Given the description of an element on the screen output the (x, y) to click on. 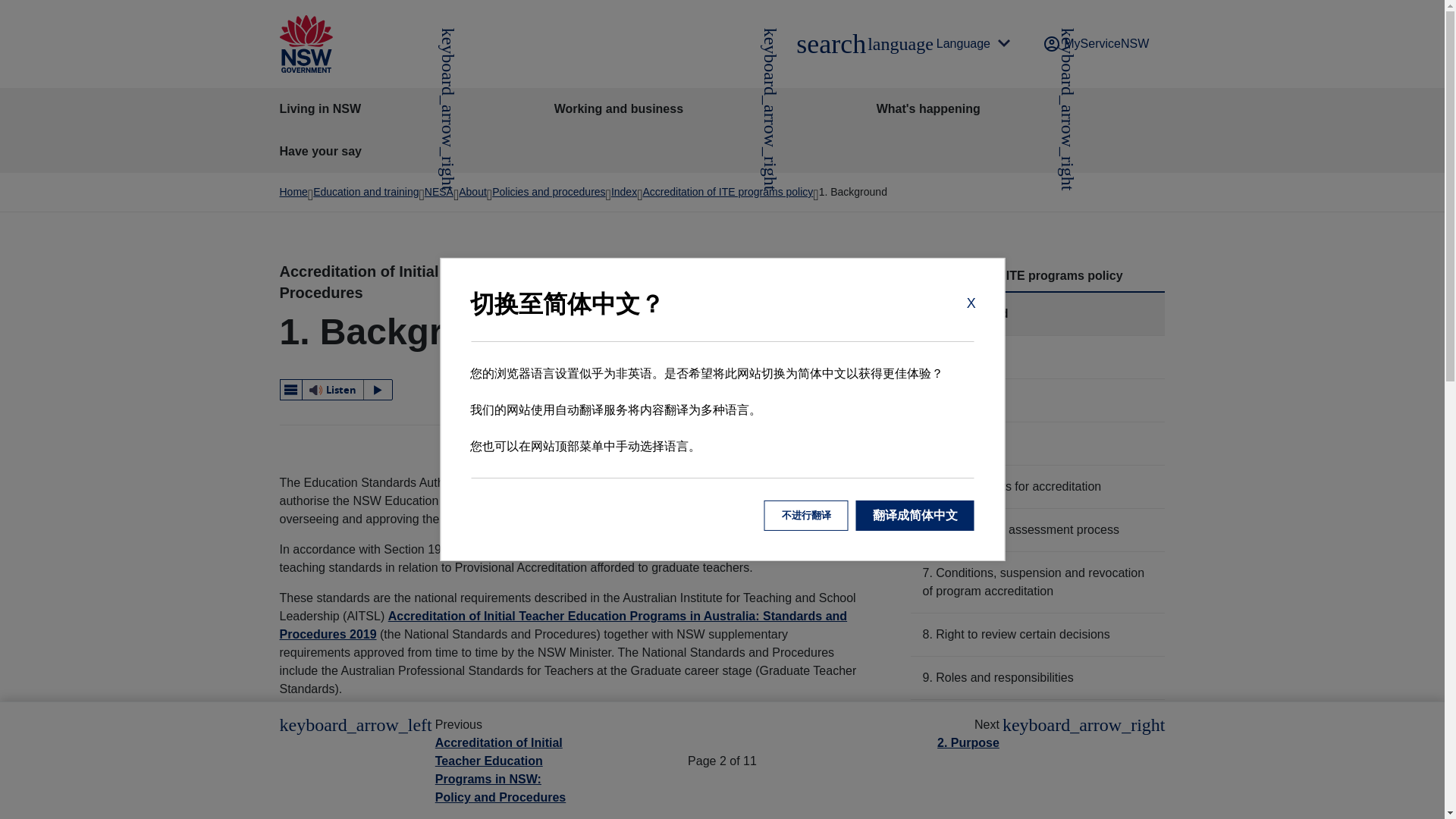
NESA Data breach policy (830, 43)
Listen to this page using ReadSpeaker webReader (563, 624)
webReader menu (336, 389)
